Given the description of an element on the screen output the (x, y) to click on. 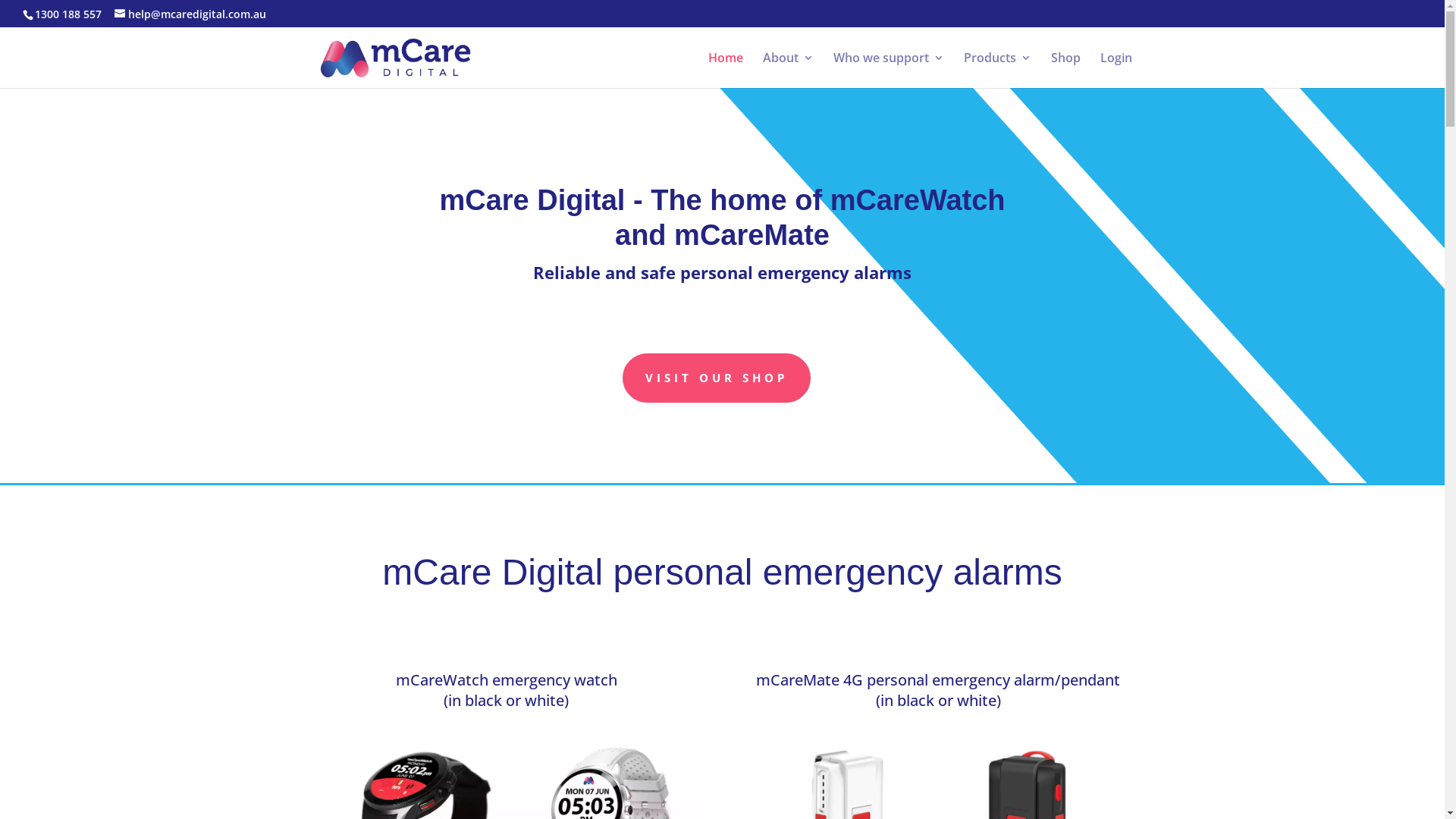
VISIT OUR SHOP Element type: text (716, 377)
Who we support Element type: text (887, 69)
Products Element type: text (996, 69)
help@mcaredigital.com.au Element type: text (190, 13)
Home Element type: text (725, 69)
Login Element type: text (1115, 69)
About Element type: text (787, 69)
Shop Element type: text (1065, 69)
